Given the description of an element on the screen output the (x, y) to click on. 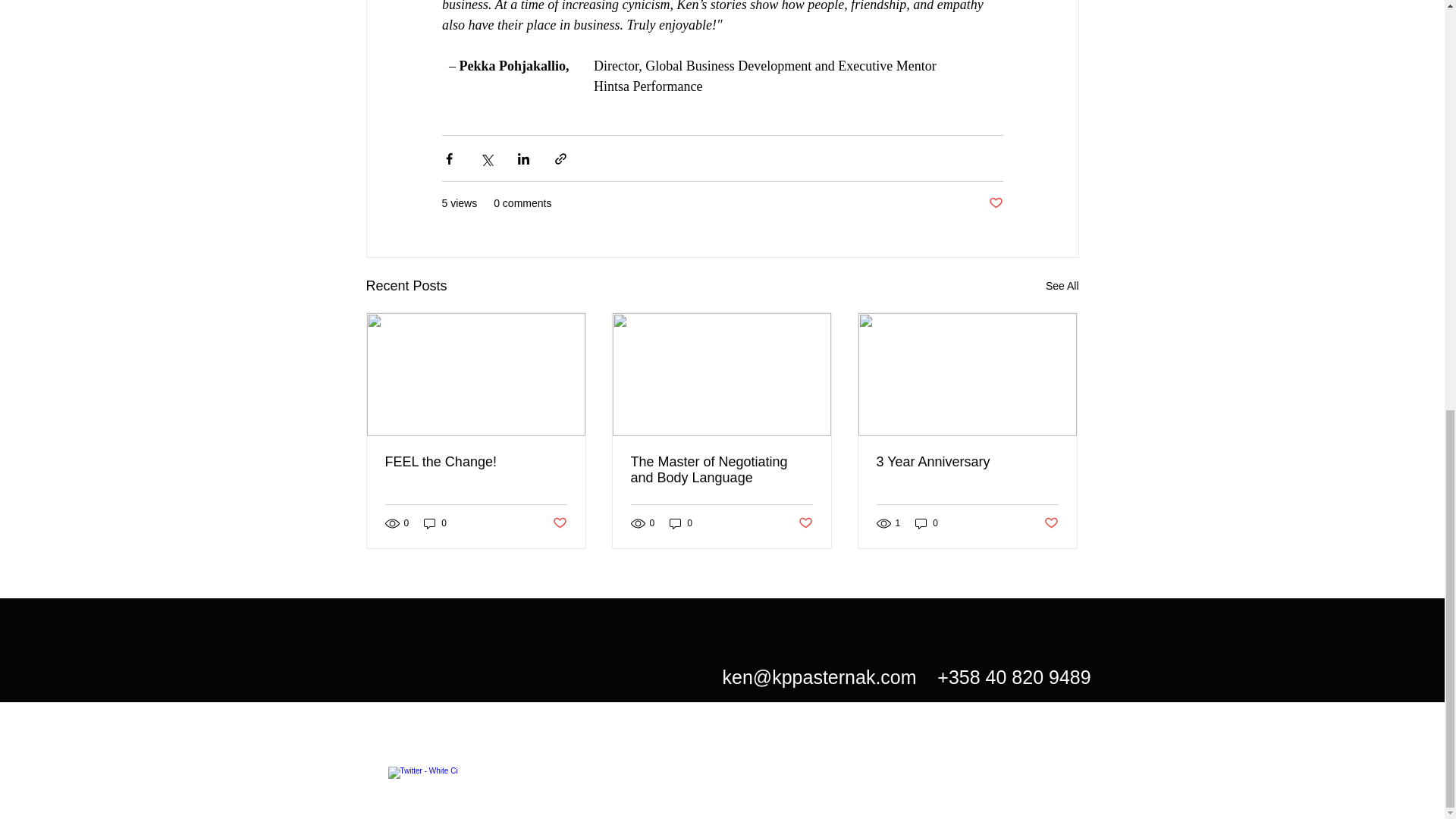
Post not marked as liked (558, 522)
0 (435, 523)
0 (926, 523)
3 Year Anniversary (967, 462)
See All (1061, 286)
FEEL the Change! (476, 462)
Post not marked as liked (804, 522)
Post not marked as liked (995, 203)
The Master of Negotiating and Body Language (721, 470)
0 (681, 523)
